Given the description of an element on the screen output the (x, y) to click on. 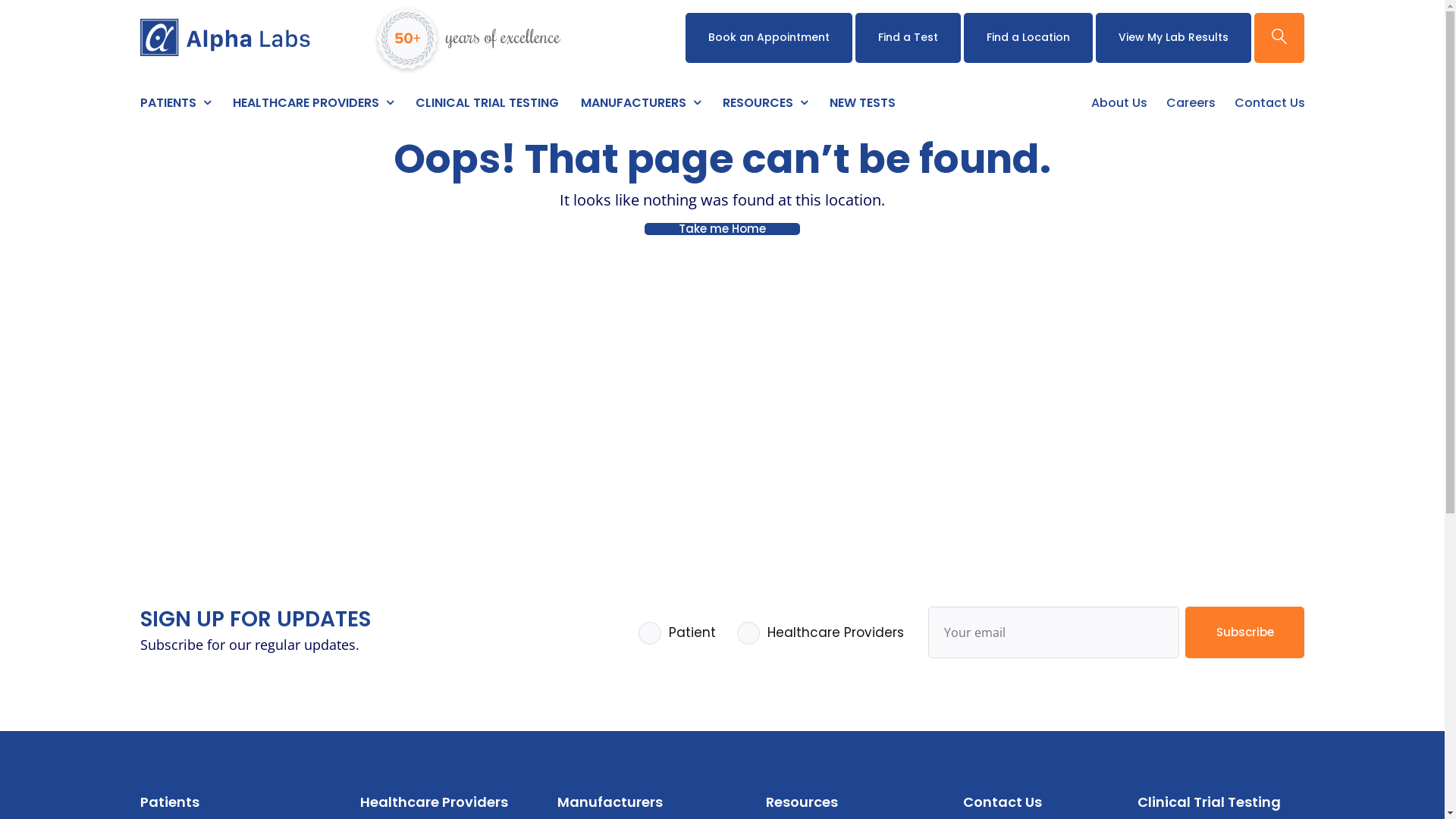
Resources Element type: text (801, 801)
View My Lab Results Element type: text (1173, 37)
PATIENTS Element type: text (174, 106)
Take me Home Element type: text (722, 228)
Find a Location Element type: text (1027, 37)
Patients Element type: text (168, 801)
Email is required Element type: hover (1053, 632)
NEW TESTS Element type: text (862, 106)
Contact Us Element type: text (1269, 106)
Careers Element type: text (1190, 106)
About Us Element type: text (1118, 106)
MANUFACTURERS Element type: text (640, 106)
Subscribe Element type: text (1244, 632)
Clinical Trial Testing Element type: text (1208, 801)
Manufacturers Element type: text (609, 801)
CLINICAL TRIAL TESTING Element type: text (486, 106)
Healthcare Providers Element type: text (433, 801)
Book an Appointment Element type: text (768, 37)
RESOURCES Element type: text (763, 106)
Find a Test Element type: text (907, 37)
Contact Us Element type: text (1002, 801)
HEALTHCARE PROVIDERS Element type: text (312, 106)
